Given the description of an element on the screen output the (x, y) to click on. 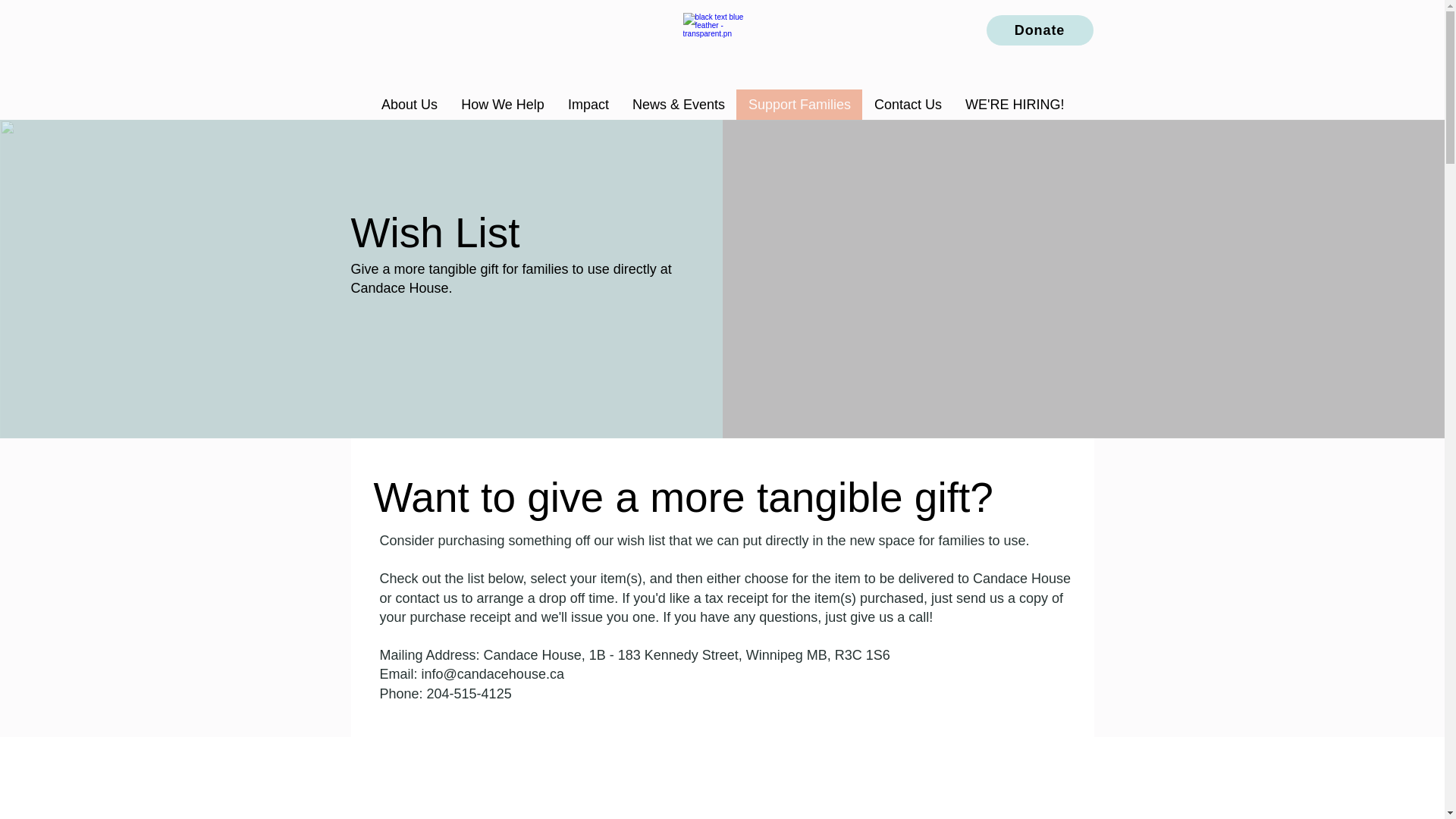
Impact (588, 104)
WE'RE HIRING! (1014, 104)
How We Help (502, 104)
About Us (408, 104)
Contact Us (907, 104)
Support Families (798, 104)
Donate (1039, 30)
